Given the description of an element on the screen output the (x, y) to click on. 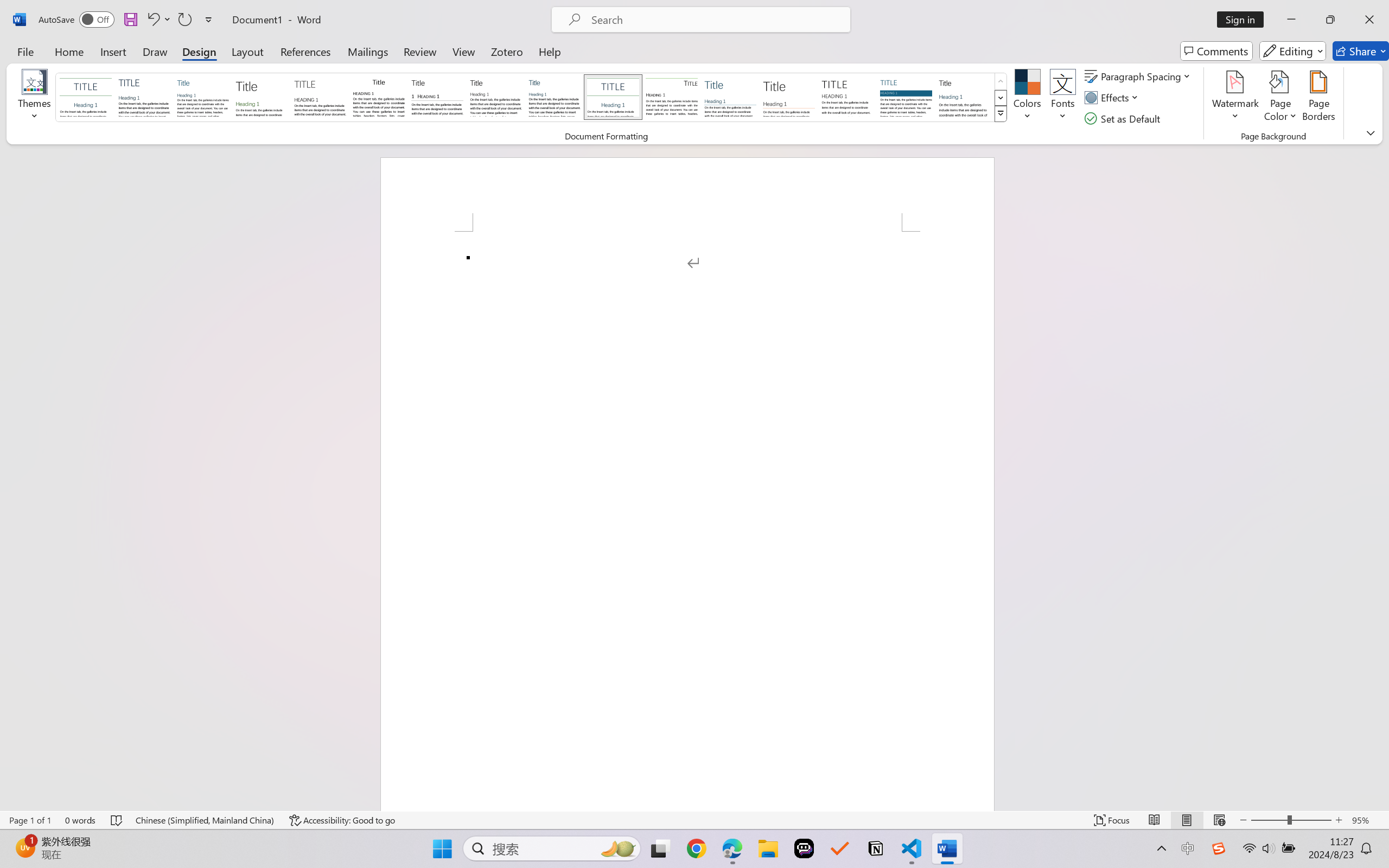
Lines (Stylish) (788, 96)
Style Set (1000, 113)
Page Color (1280, 97)
Effects (1113, 97)
Word (964, 96)
Black & White (Word 2013) (495, 96)
Casual (554, 96)
